Given the description of an element on the screen output the (x, y) to click on. 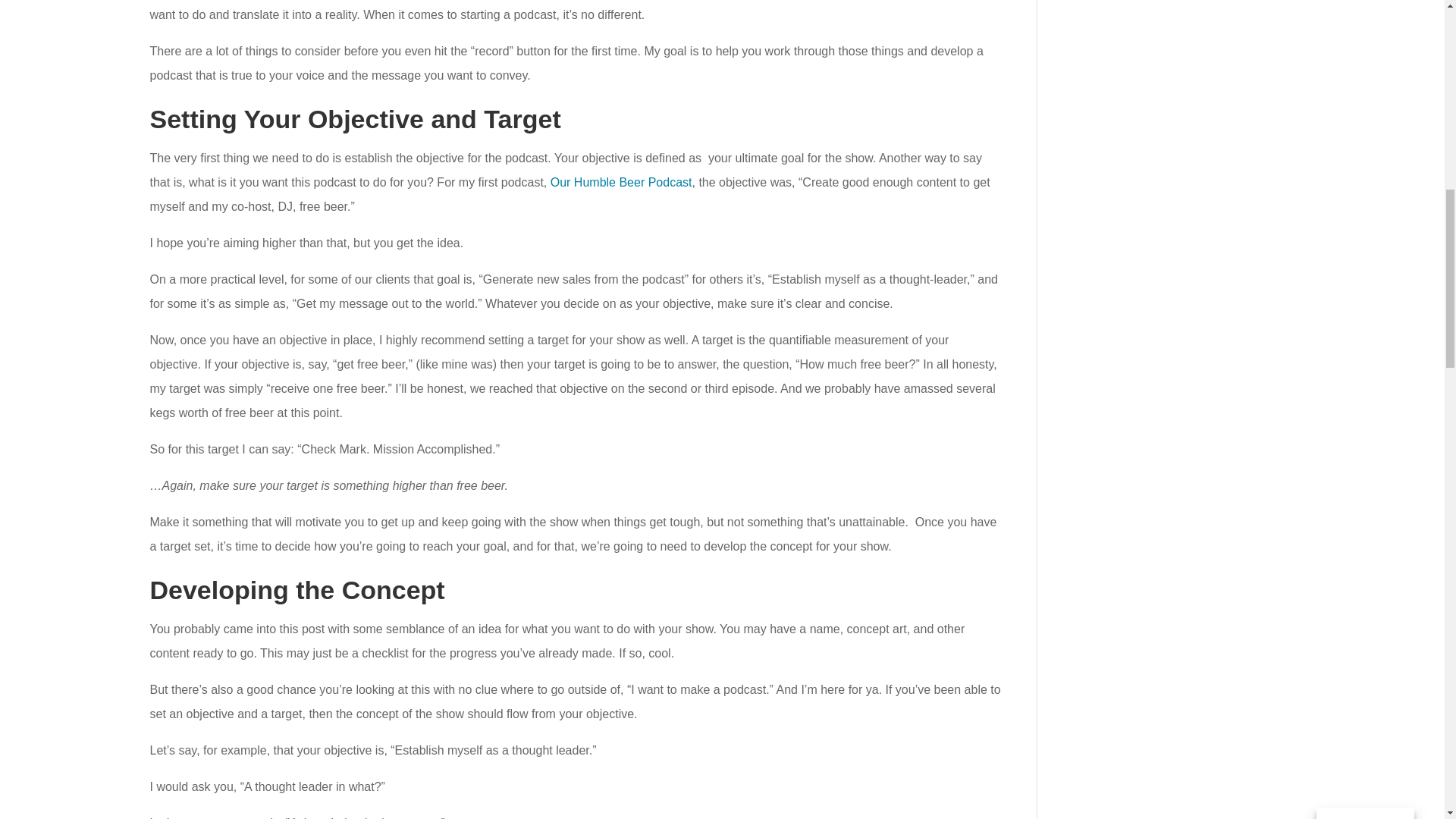
Our Humble Beer Podcast (621, 182)
